Given the description of an element on the screen output the (x, y) to click on. 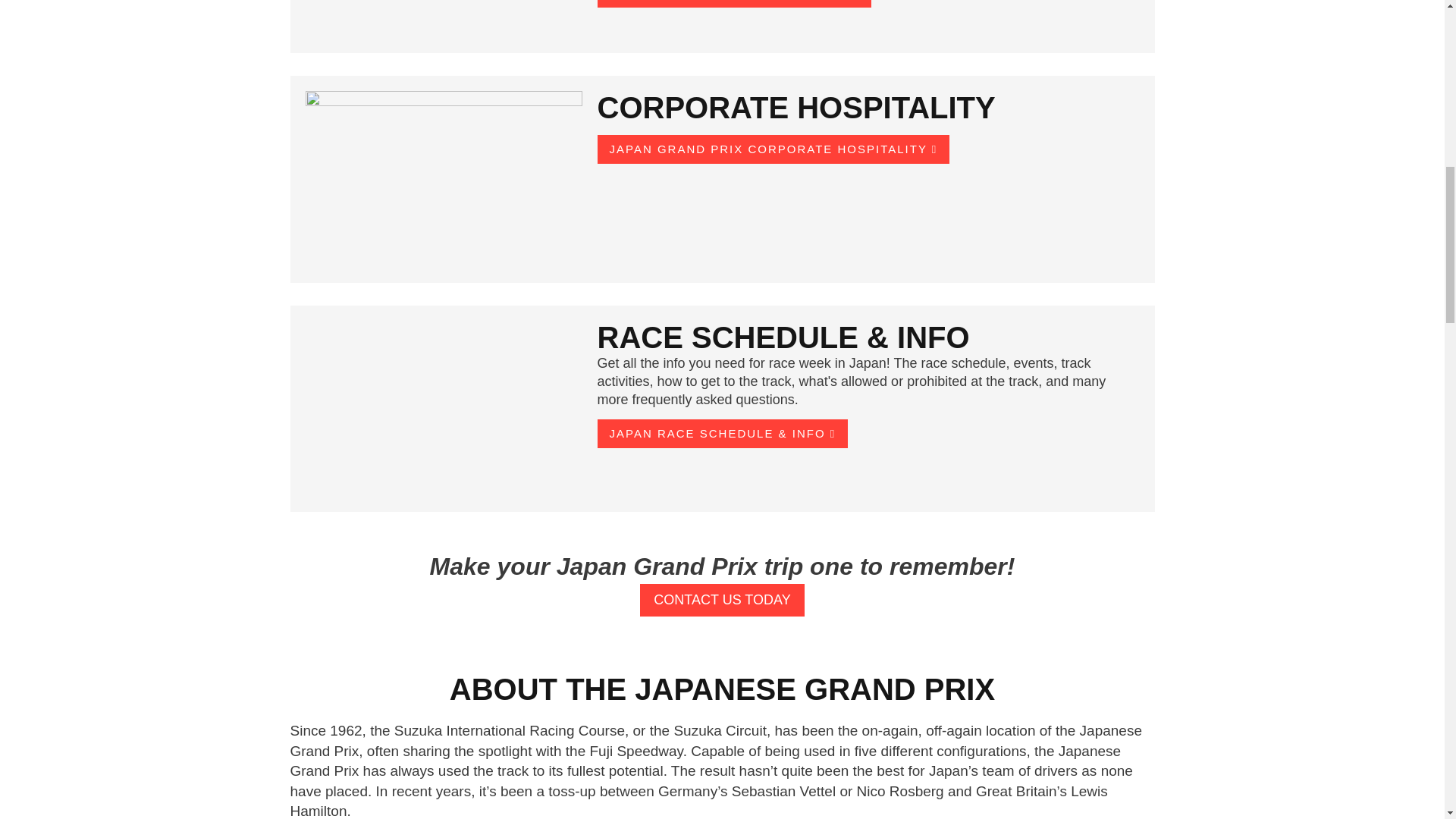
JAPAN GRAND PRIX RACE TICKETS (733, 3)
JAPAN GRAND PRIX CORPORATE HOSPITALITY (773, 149)
CONTACT US TODAY (721, 599)
